Given the description of an element on the screen output the (x, y) to click on. 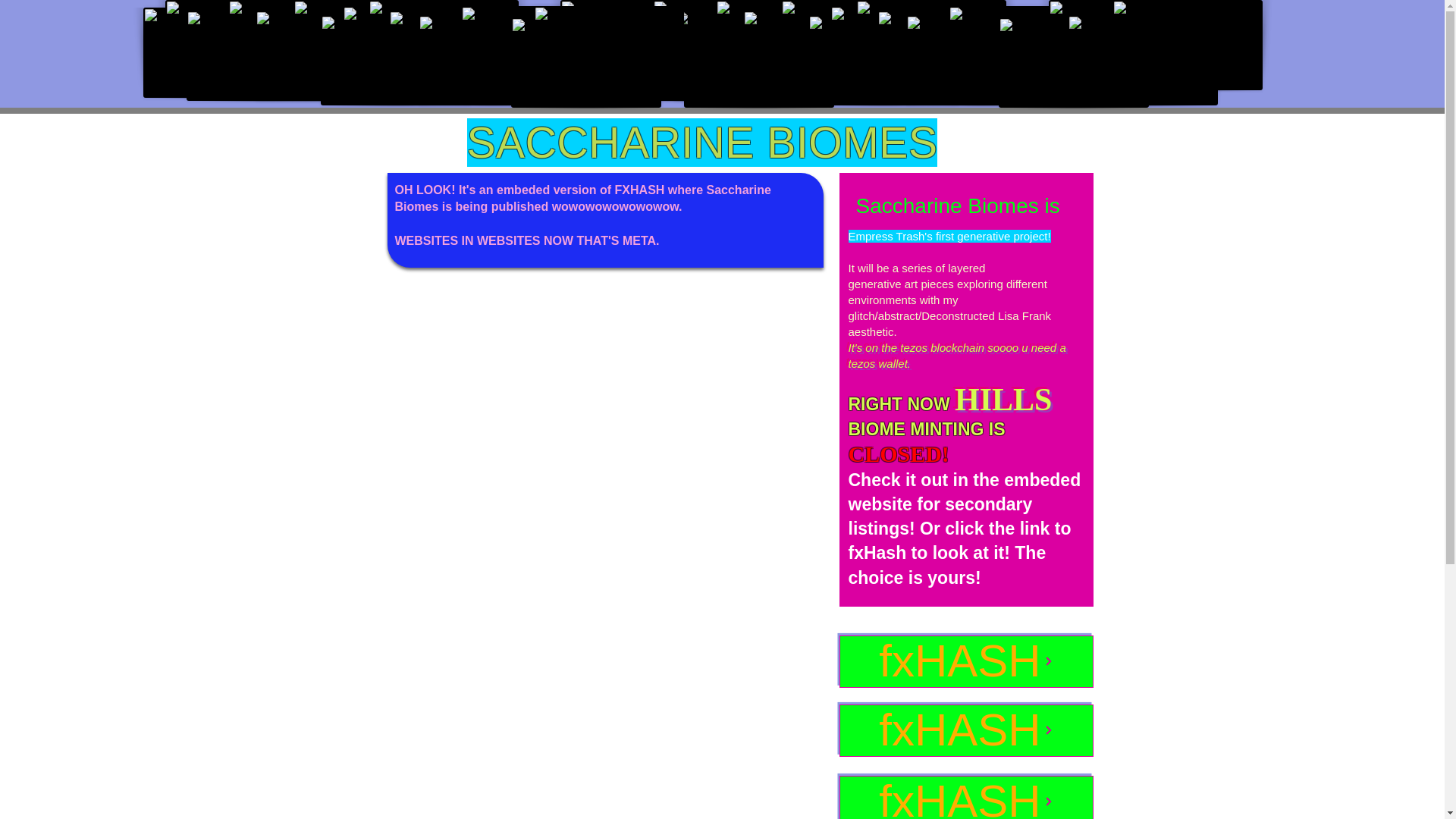
fxHASH (965, 797)
fxHASH (965, 730)
fxHASH (965, 661)
